Given the description of an element on the screen output the (x, y) to click on. 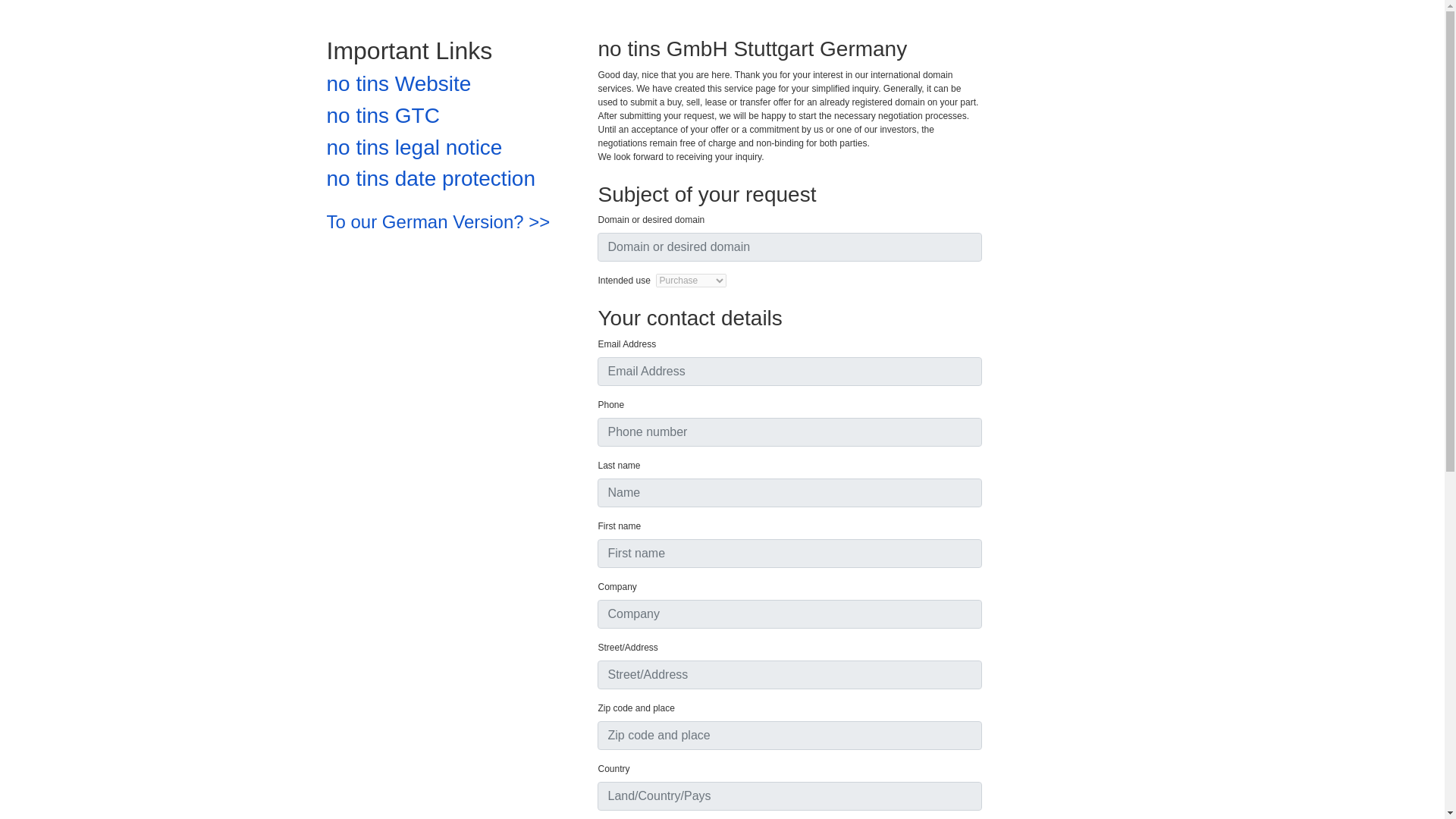
no tins GTC (382, 115)
no tins Website (398, 83)
no tins date protection (430, 178)
no tins legal notice (414, 146)
